Given the description of an element on the screen output the (x, y) to click on. 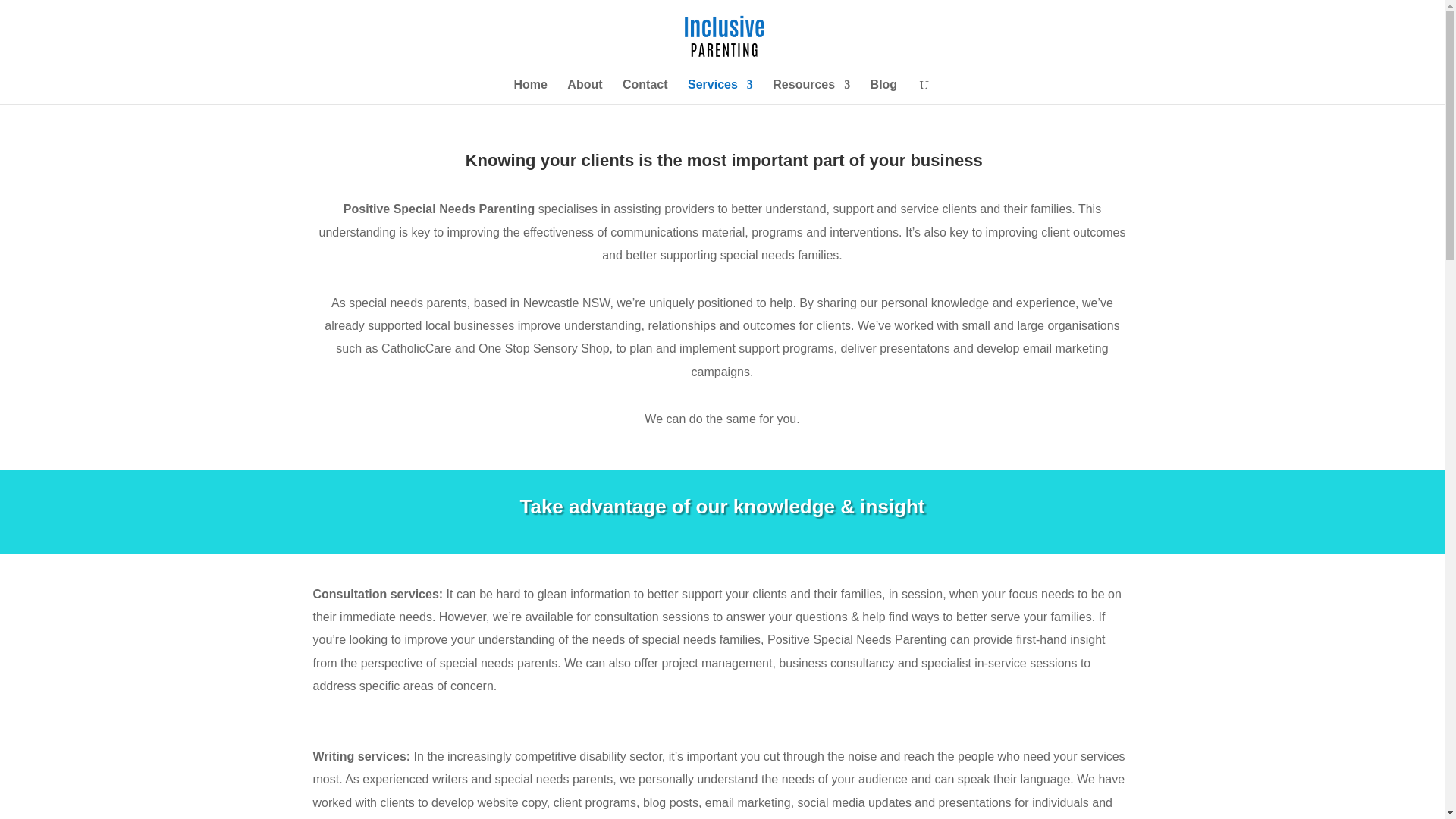
Contact (645, 91)
About (584, 91)
Blog (884, 91)
Resources (811, 91)
Home (530, 91)
Services (719, 91)
